Given the description of an element on the screen output the (x, y) to click on. 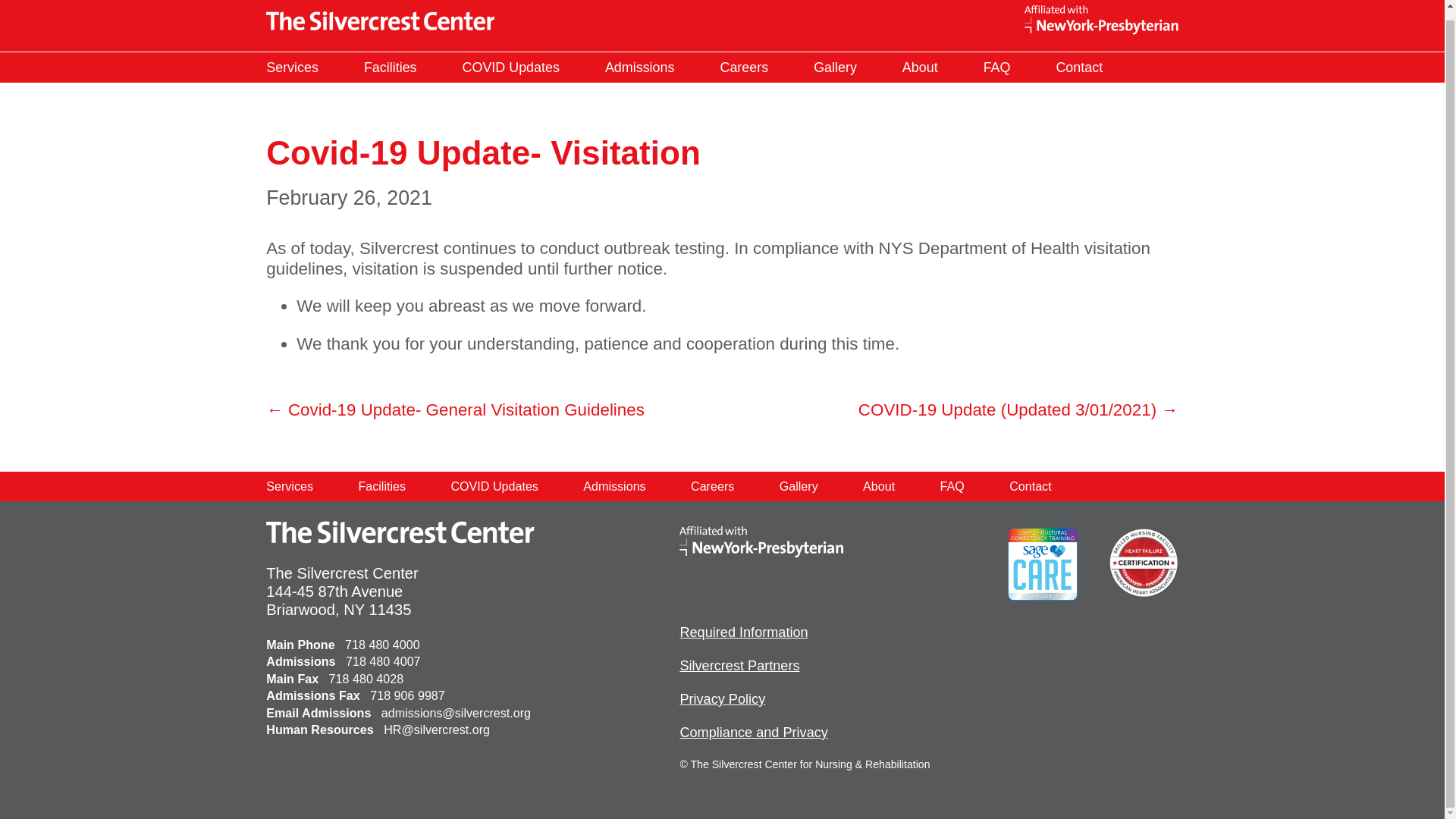
Contact (1029, 485)
718 480 4007 (383, 661)
COVID Updates (494, 485)
Compliance and Privacy (753, 732)
Services (291, 67)
Careers (711, 485)
FAQ (952, 485)
COVID Updates (510, 67)
About (920, 67)
Required Information (743, 631)
